Given the description of an element on the screen output the (x, y) to click on. 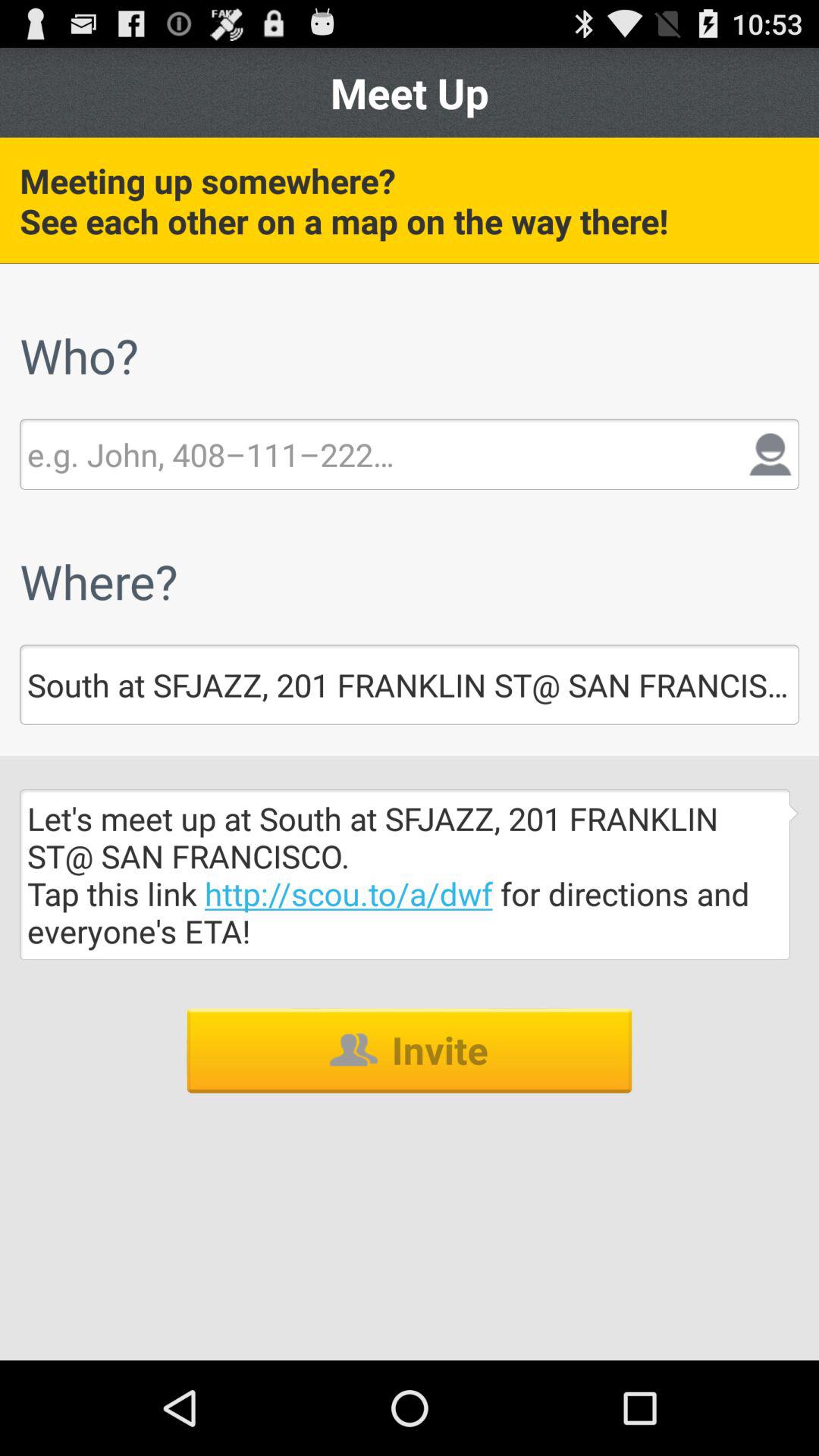
look up person (210, 454)
